Given the description of an element on the screen output the (x, y) to click on. 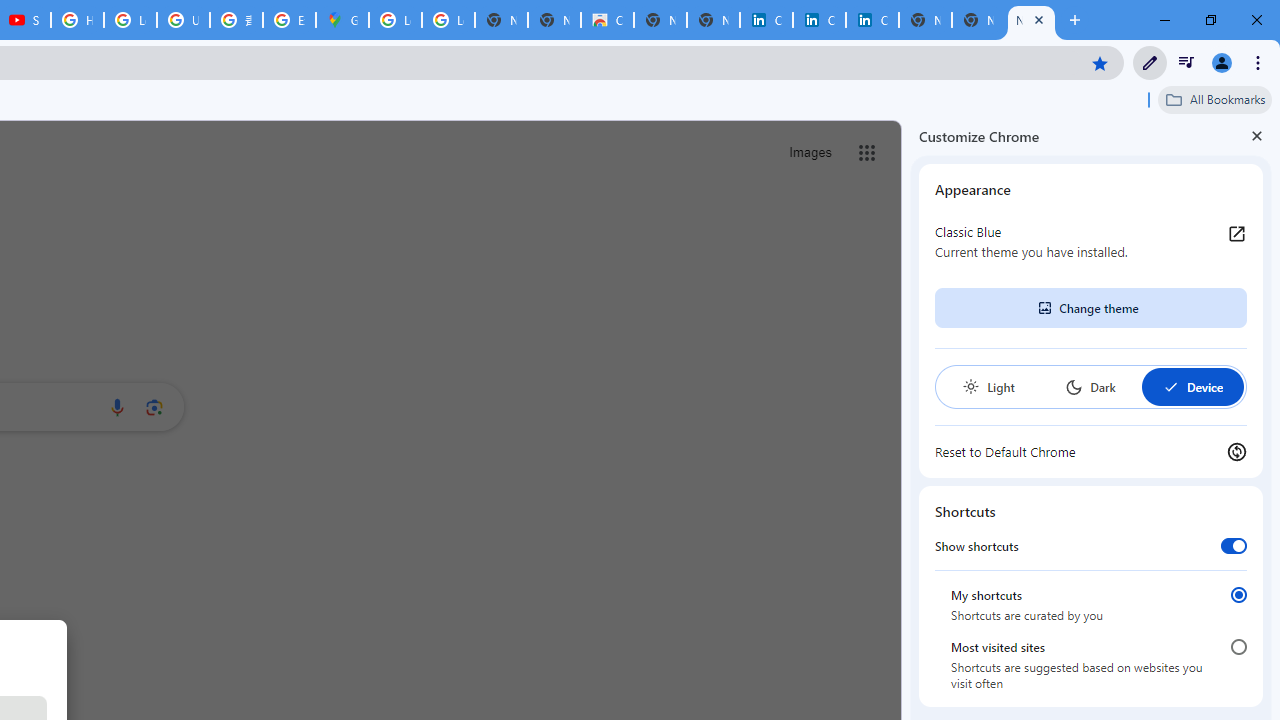
My shortcuts (1238, 594)
